Given the description of an element on the screen output the (x, y) to click on. 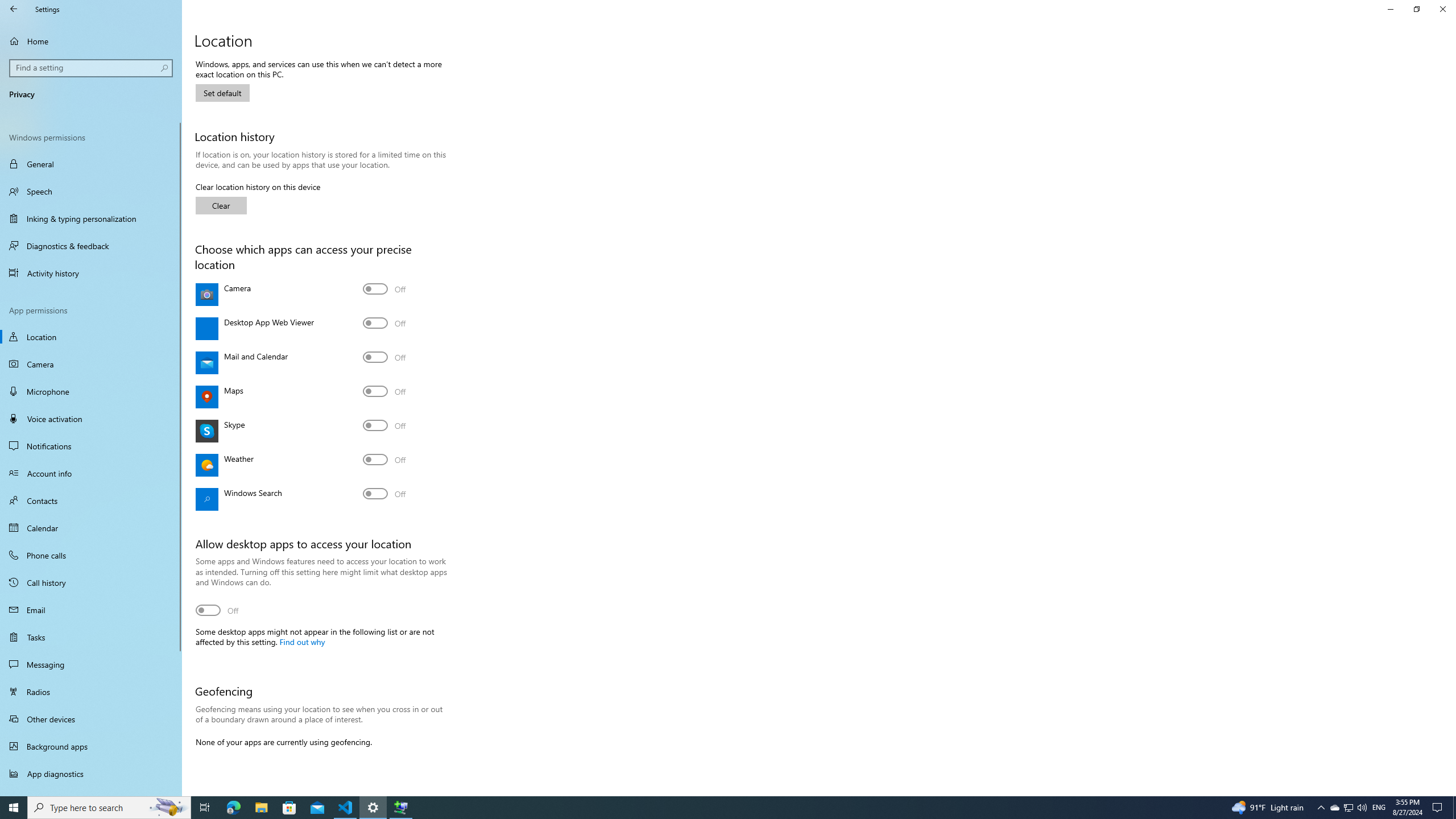
Notifications (91, 445)
Camera (91, 363)
Close Settings (1442, 9)
Windows Search (384, 493)
Inking & typing personalization (91, 217)
Settings - 1 running window (373, 807)
General (91, 163)
Activity history (91, 272)
Find out why (301, 641)
Voice activation (91, 418)
Radios (91, 691)
Tasks (91, 636)
